Given the description of an element on the screen output the (x, y) to click on. 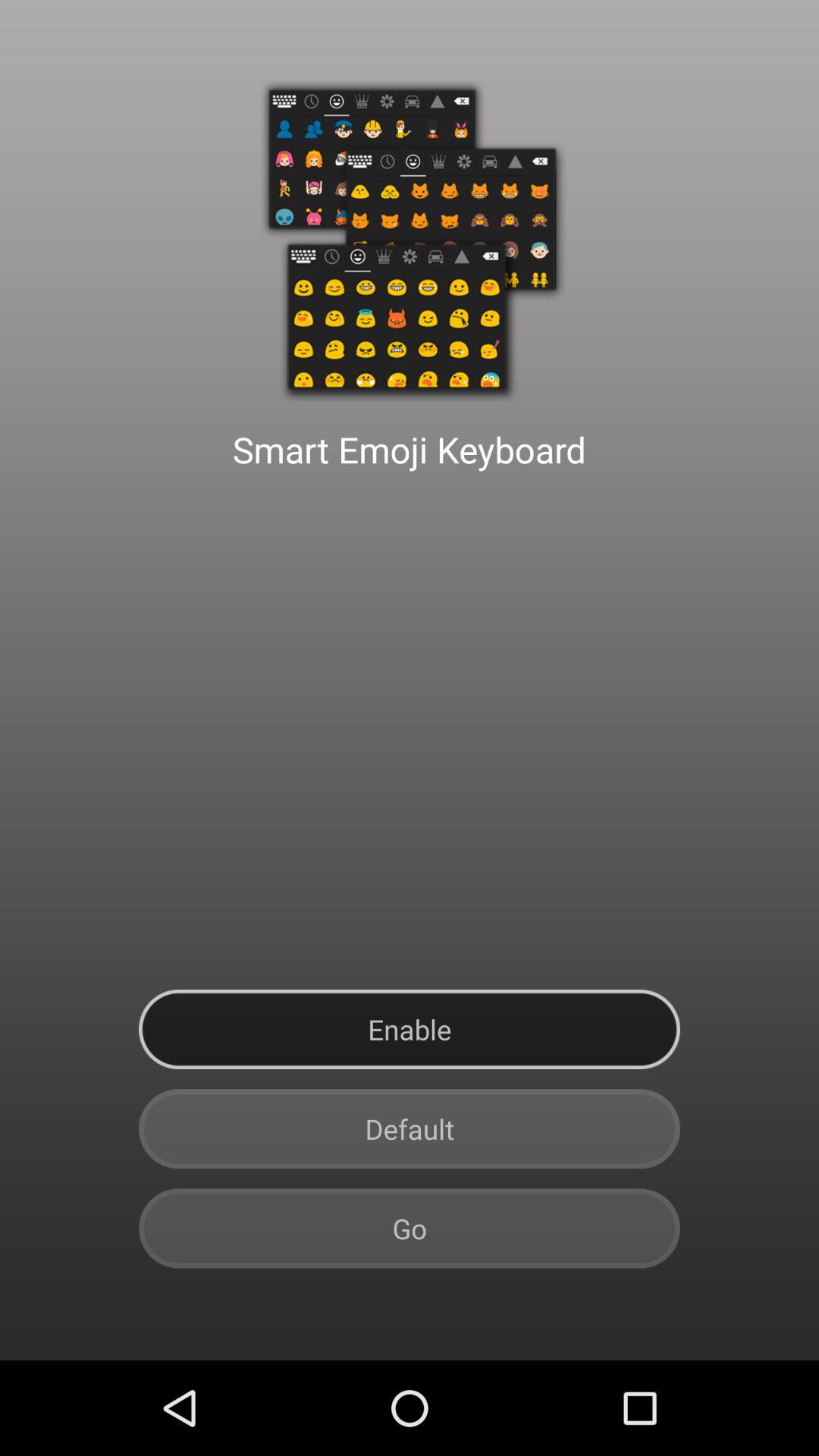
select the go button (409, 1228)
